Given the description of an element on the screen output the (x, y) to click on. 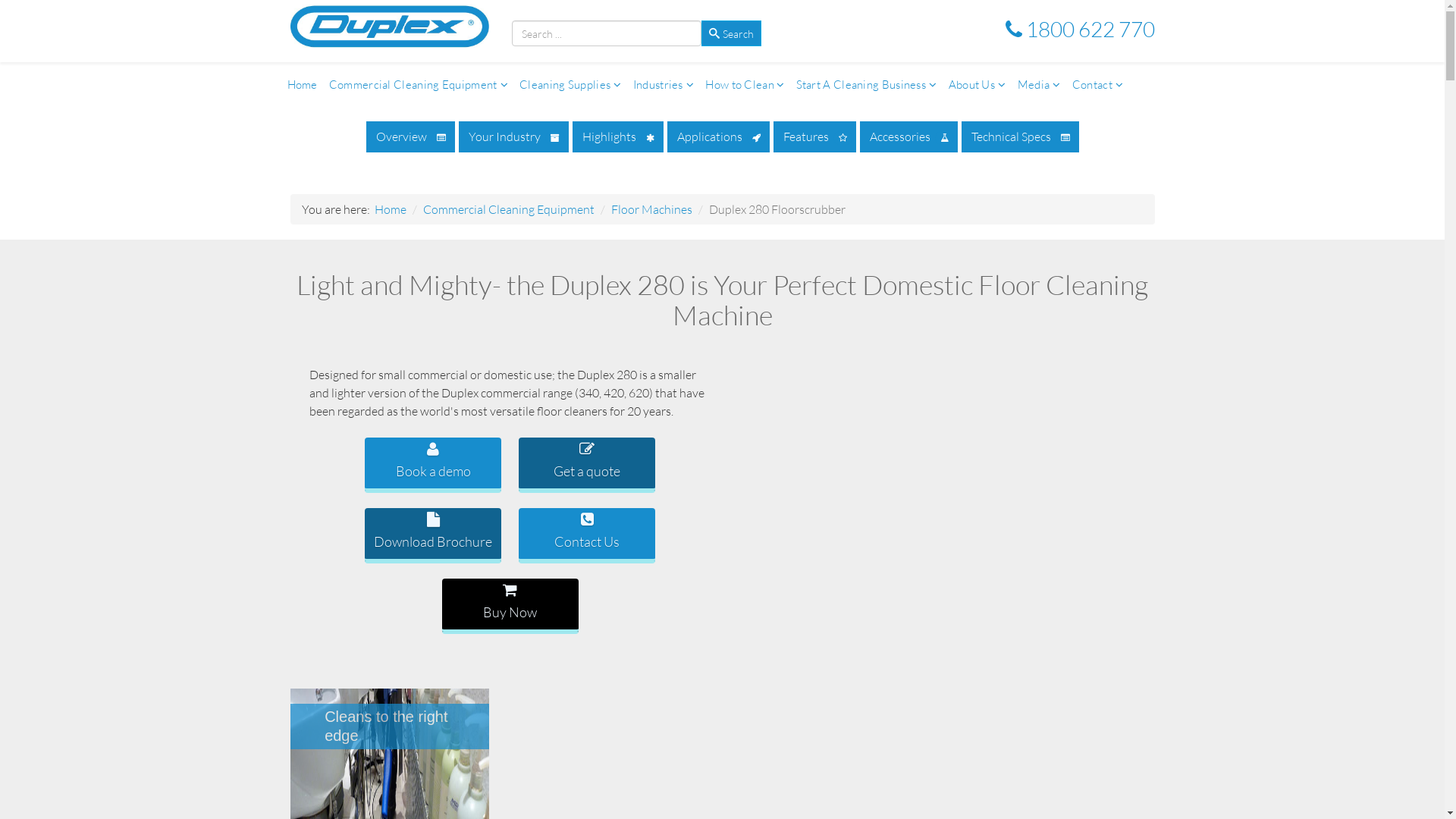
Contact Us Element type: text (586, 535)
Floor Machines Element type: text (651, 208)
Home Element type: text (390, 208)
Get a quote Element type: text (586, 464)
Commercial Cleaning Equipment by Duplex Element type: hover (389, 26)
Highlights Element type: text (616, 136)
Book a demo Element type: text (432, 464)
Buy Now Element type: text (509, 605)
Contact Element type: text (1097, 84)
Commercial Cleaning Equipment Element type: text (418, 84)
Home Element type: text (301, 84)
1800 622 770 Element type: text (1079, 28)
Industries Element type: text (663, 84)
Your Industry Element type: text (512, 136)
How to Clean Element type: text (744, 84)
Applications Element type: text (718, 136)
Technical Specs Element type: text (1020, 136)
Download Brochure Element type: text (432, 535)
Features Element type: text (814, 136)
Accessories Element type: text (908, 136)
Commercial Cleaning Equipment Element type: text (508, 208)
Search Element type: text (731, 33)
Start A Cleaning Business Element type: text (866, 84)
Overview Element type: text (409, 136)
Cleaning Supplies Element type: text (570, 84)
Media Element type: text (1039, 84)
About Us Element type: text (977, 84)
